Given the description of an element on the screen output the (x, y) to click on. 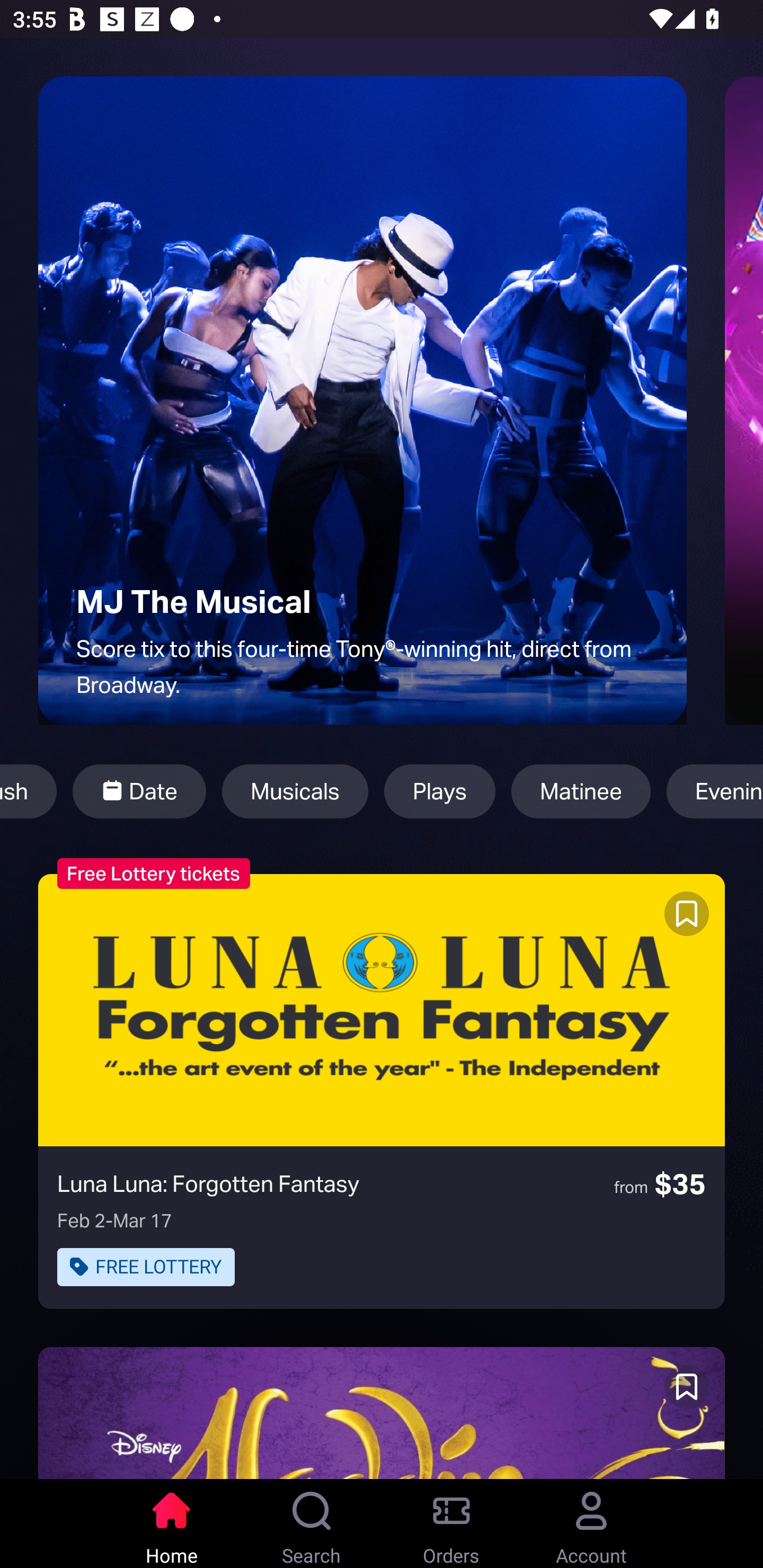
Date (139, 791)
Musicals (295, 791)
Plays (439, 791)
Matinee (580, 791)
Search (311, 1523)
Orders (451, 1523)
Account (591, 1523)
